Given the description of an element on the screen output the (x, y) to click on. 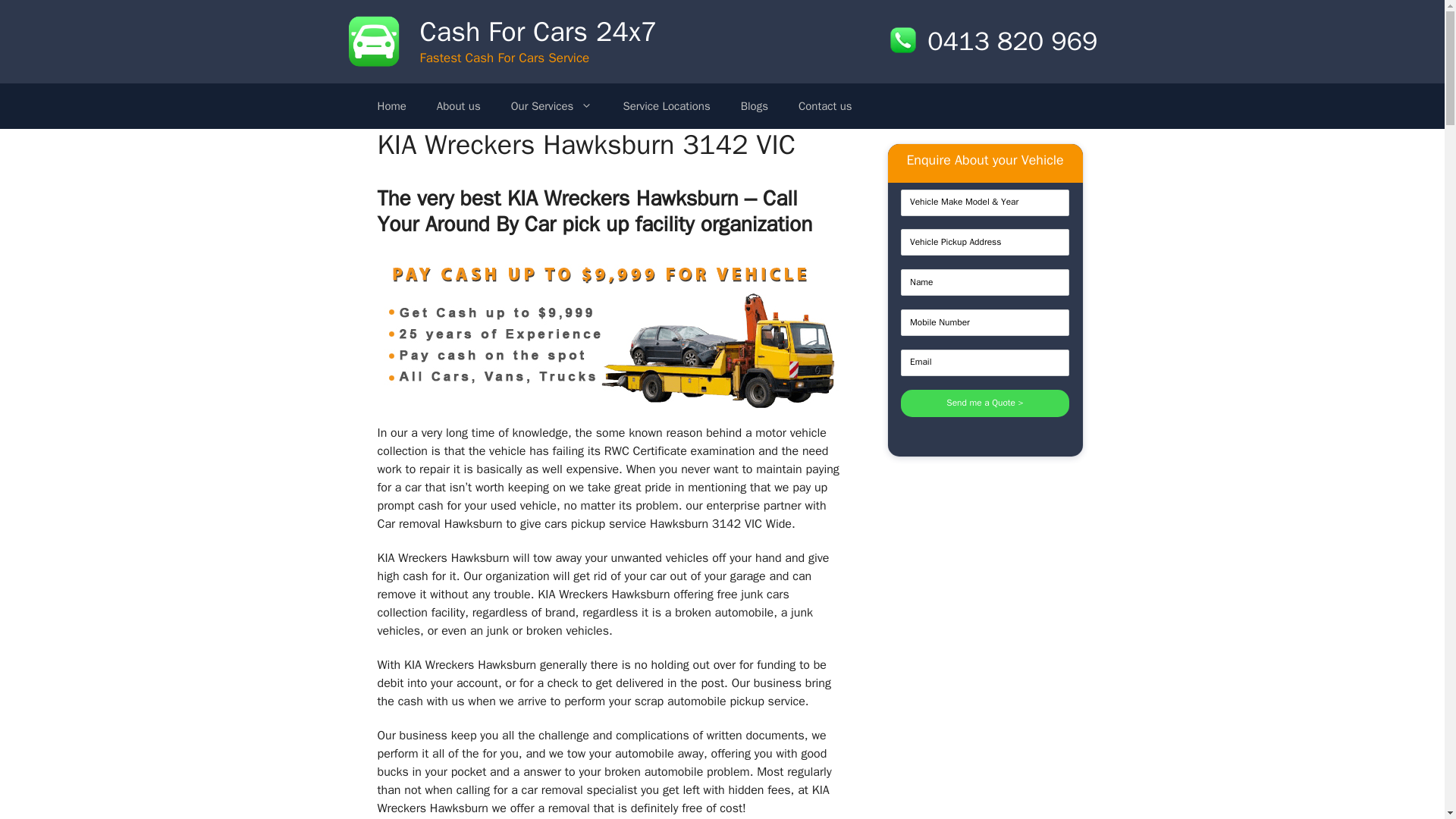
0413 820 969 (993, 41)
Service Locations (666, 105)
About us (459, 105)
Home (392, 105)
Cash For Cars 24x7 (539, 31)
KIA Wreckers Hawksburn 3142 VIC 1 (610, 334)
Blogs (754, 105)
Our Services (552, 105)
Contact us (825, 105)
